Given the description of an element on the screen output the (x, y) to click on. 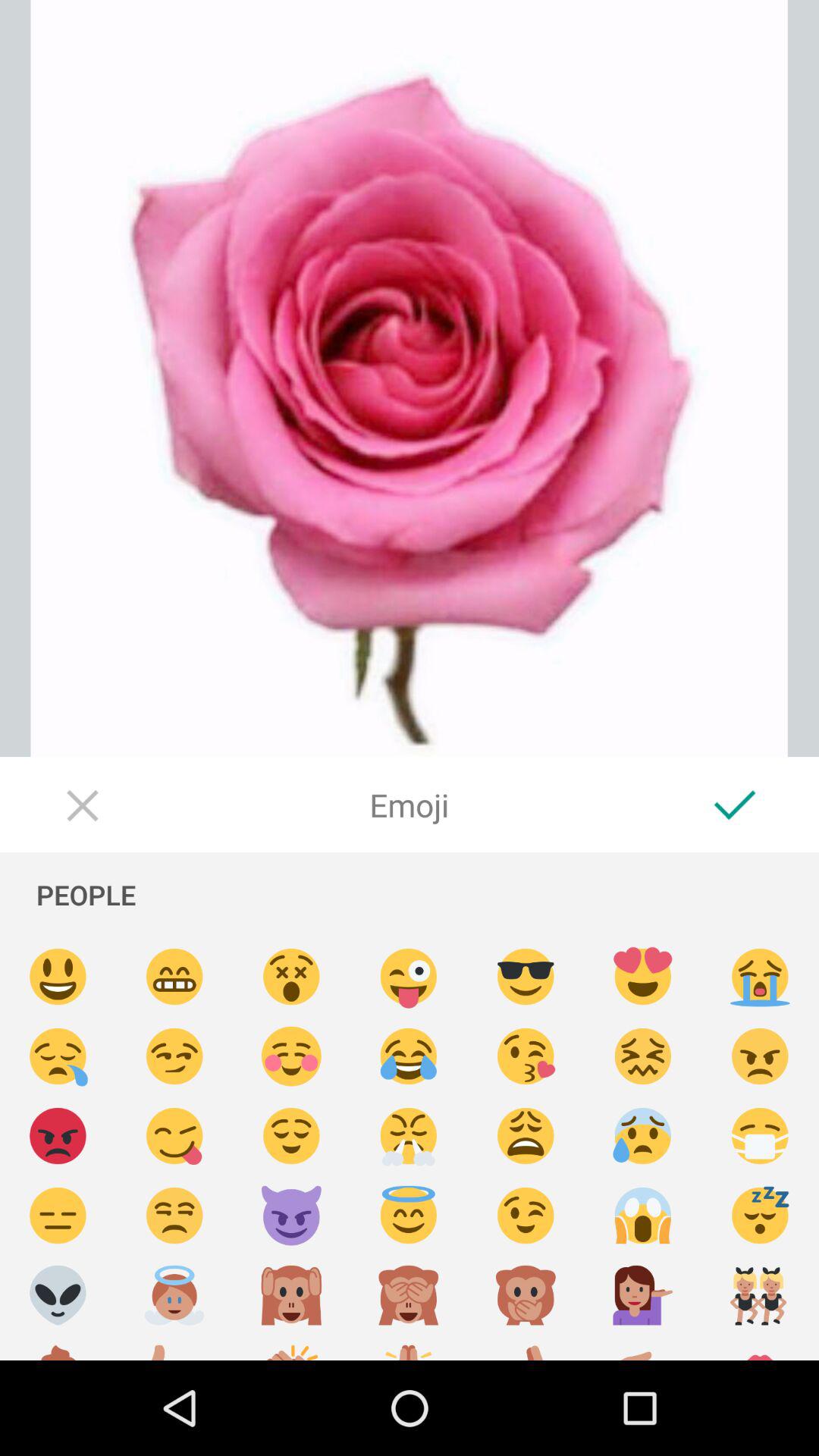
select relax emoji (291, 1136)
